Given the description of an element on the screen output the (x, y) to click on. 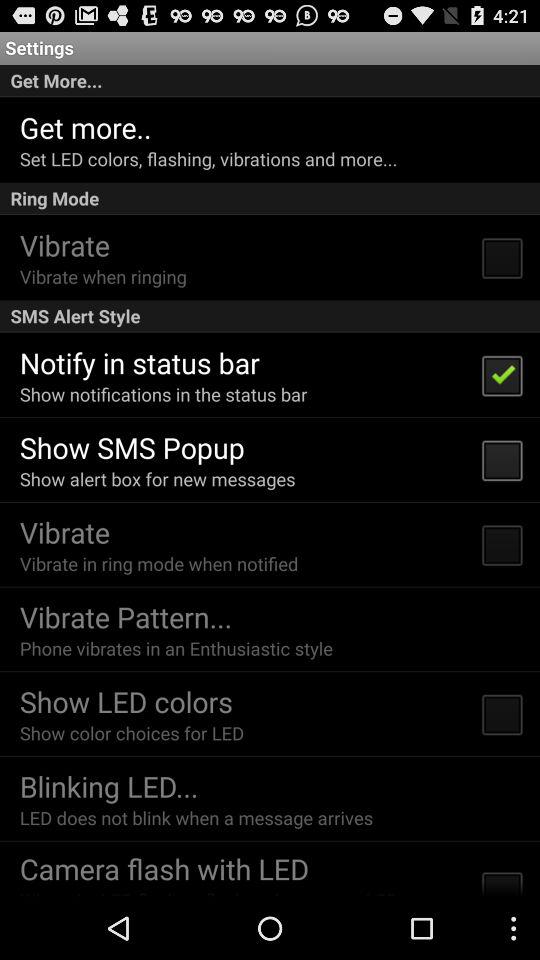
scroll to the led does not app (196, 817)
